Given the description of an element on the screen output the (x, y) to click on. 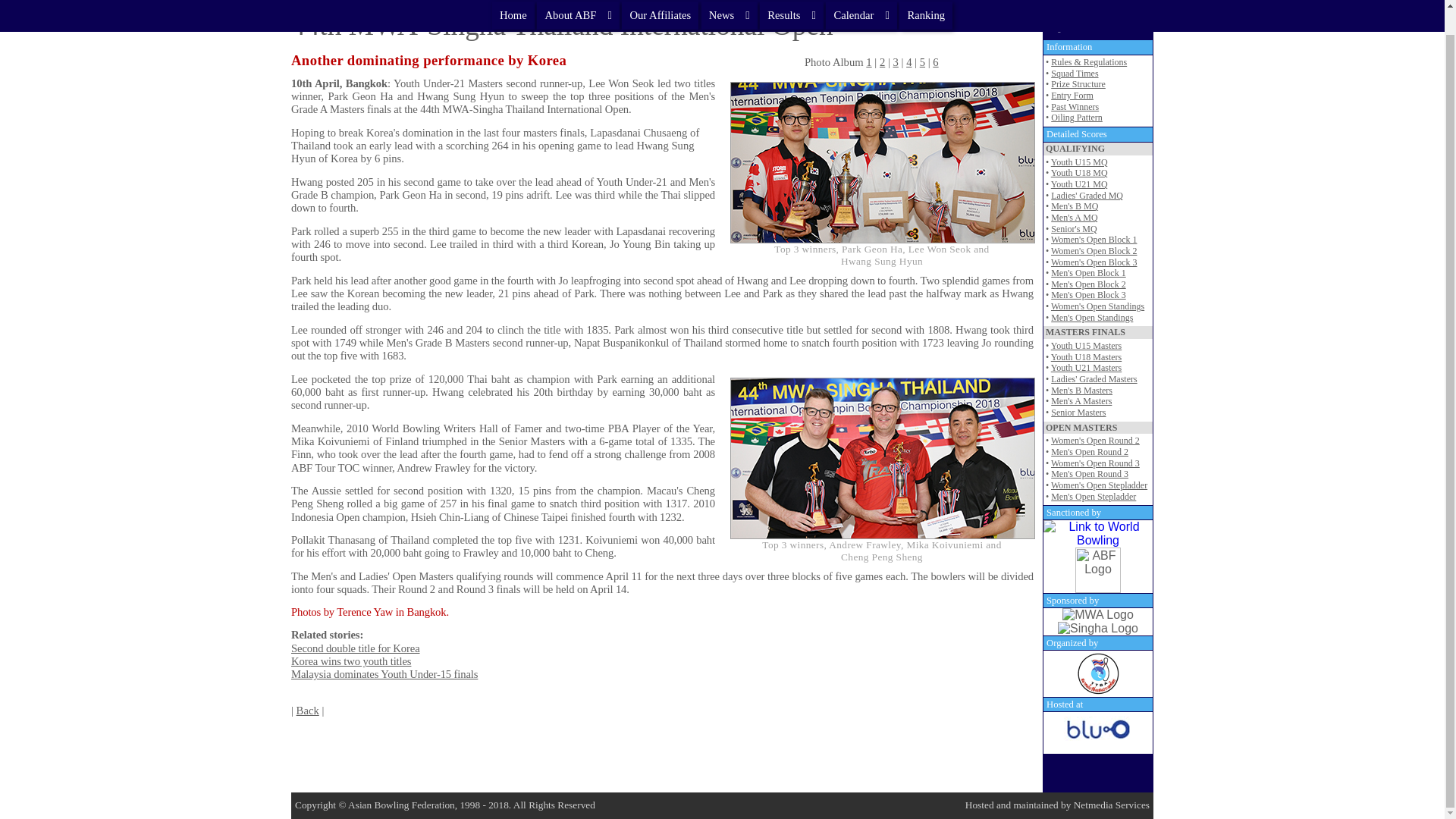
Results (792, 2)
News (729, 2)
Calendar (860, 2)
Blu-O logo (1097, 732)
ABF Logo (1098, 569)
TTBA Logo (1098, 673)
About ABF (577, 2)
Singha Logo (1098, 628)
Men's Grade A Top 3 Winners (882, 162)
Link to World Bowling (1098, 533)
Our Affiliates (659, 2)
MWA Logo (1098, 614)
Senior Top 3 Winners (882, 457)
Home (513, 2)
